Given the description of an element on the screen output the (x, y) to click on. 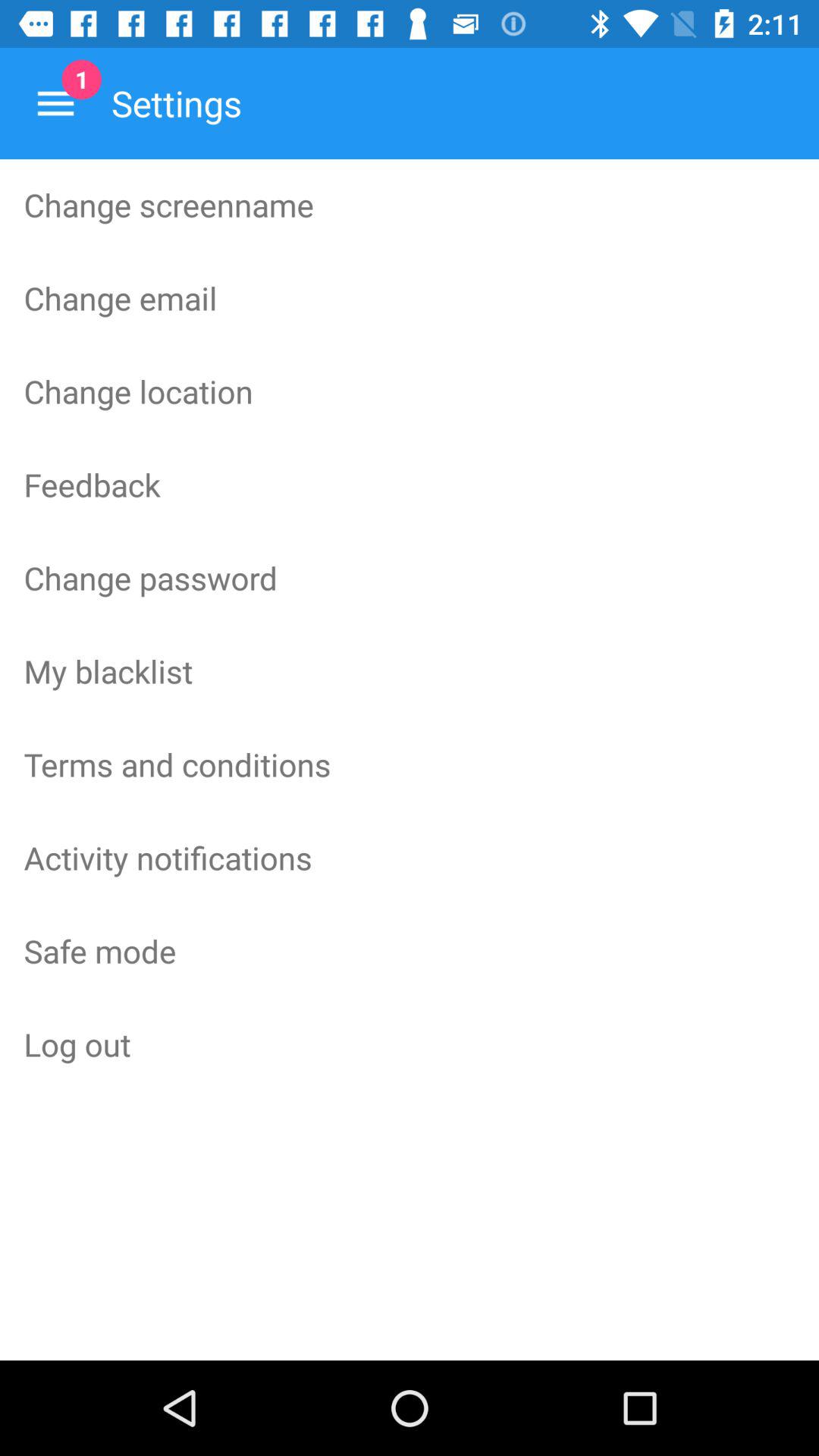
scroll until the my blacklist (409, 670)
